Given the description of an element on the screen output the (x, y) to click on. 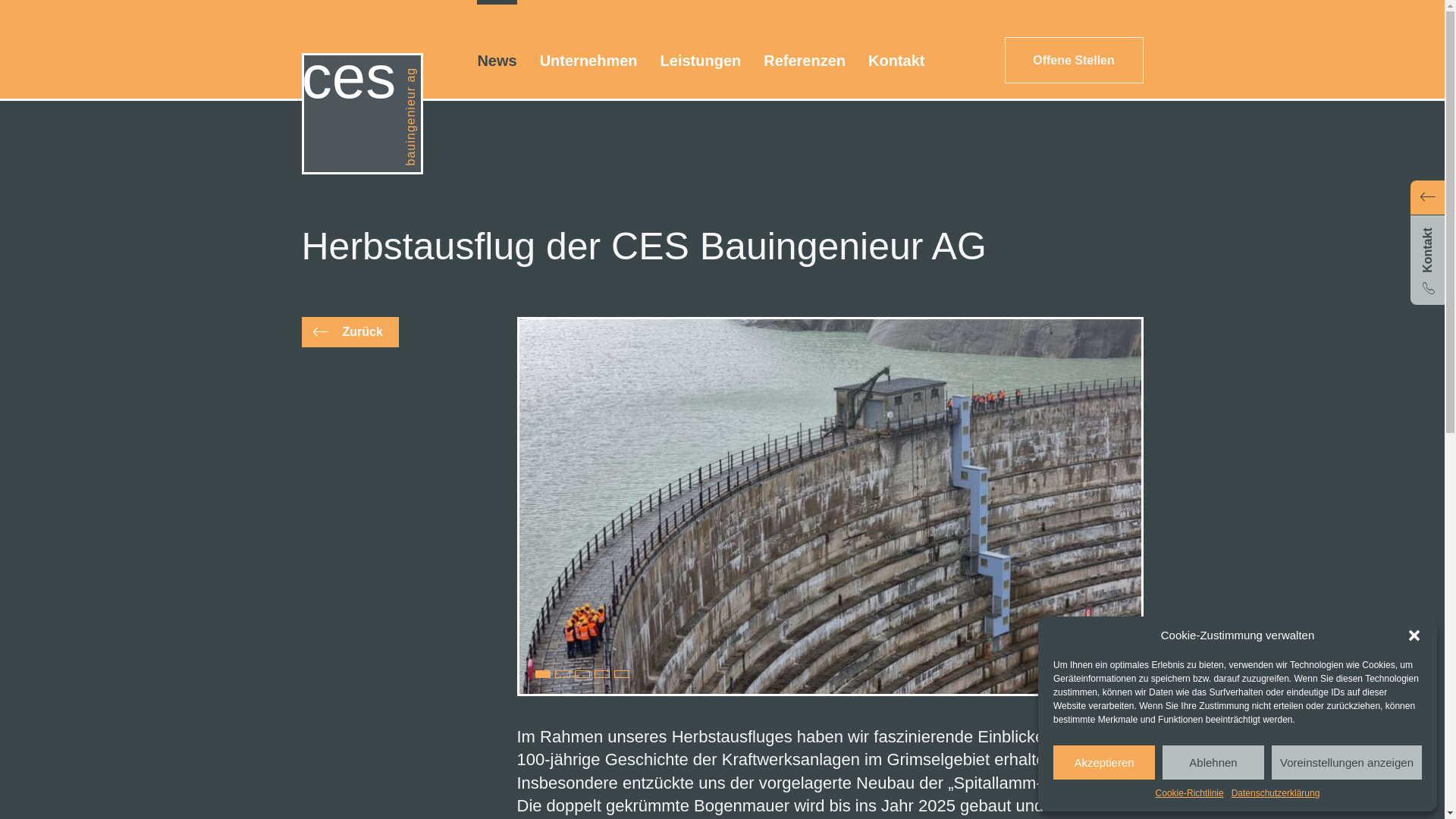
Leistungen Element type: text (700, 60)
Referenzen Element type: text (804, 60)
4 Element type: text (601, 673)
Kontakt Element type: text (896, 60)
News Element type: text (496, 60)
Offene Stellen Element type: text (1073, 60)
Voreinstellungen anzeigen Element type: text (1346, 762)
1 Element type: text (542, 673)
2 Element type: text (562, 673)
Cookie-Richtlinie Element type: text (1189, 793)
5 Element type: text (621, 673)
Unternehmen Element type: text (588, 60)
3 Element type: text (581, 673)
Kontakt Element type: text (1427, 242)
Akzeptieren Element type: text (1103, 762)
Ablehnen Element type: text (1213, 762)
